Given the description of an element on the screen output the (x, y) to click on. 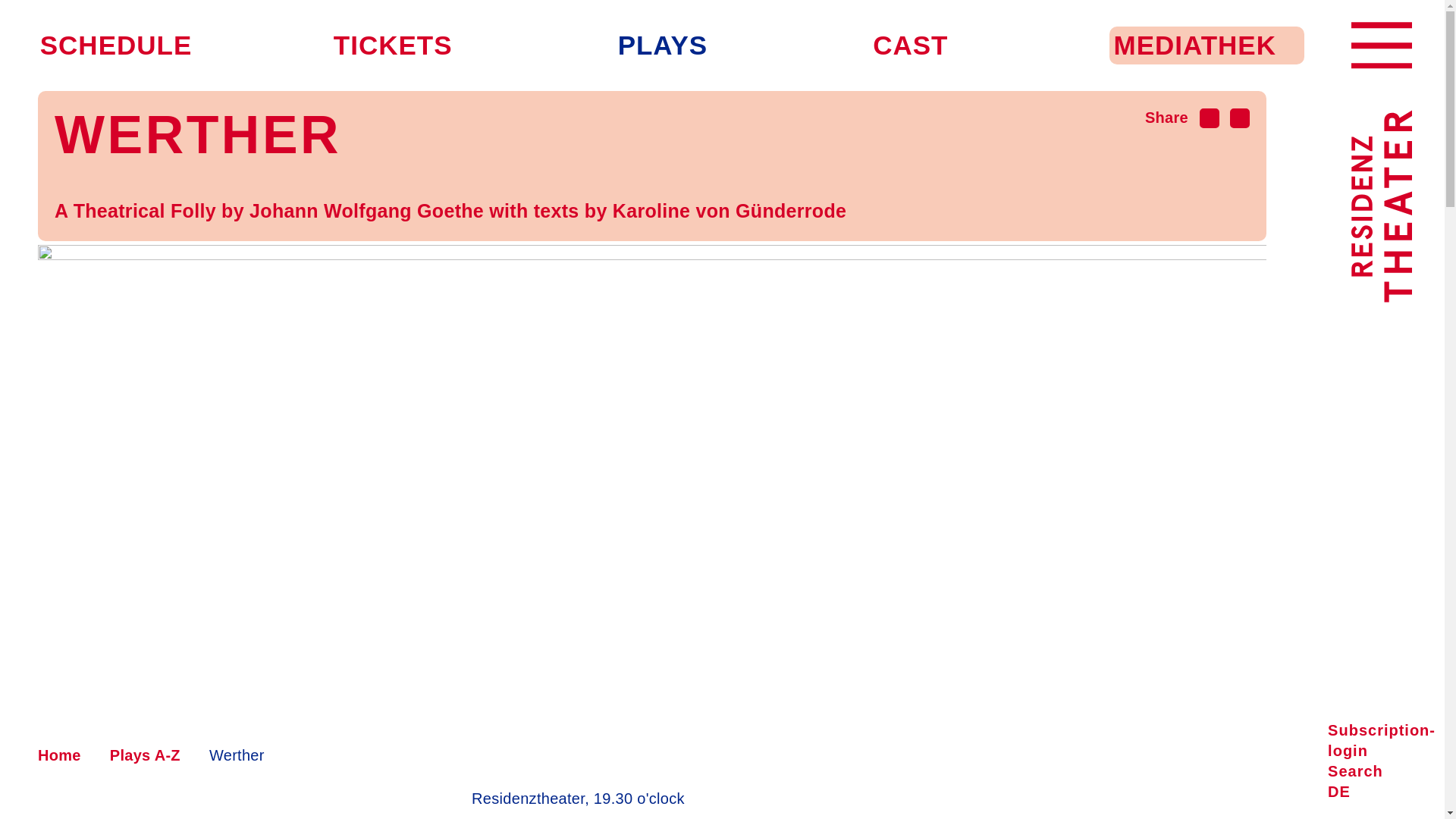
DE (1338, 791)
Home (59, 755)
Plays A-Z (145, 755)
SCHEDULE (116, 44)
Share 'Werther via mail (1209, 117)
